Given the description of an element on the screen output the (x, y) to click on. 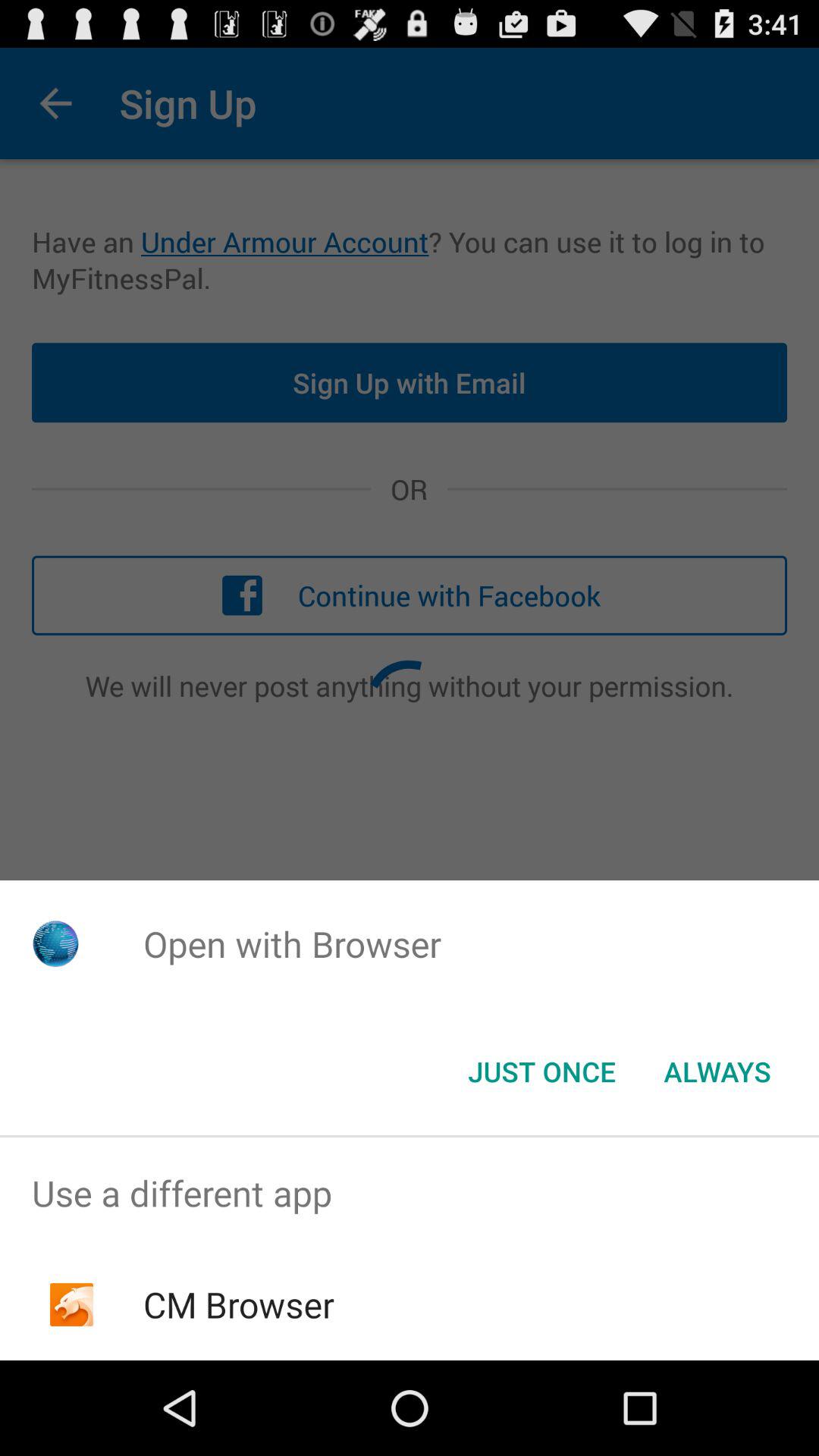
press the icon below open with browser item (541, 1071)
